Given the description of an element on the screen output the (x, y) to click on. 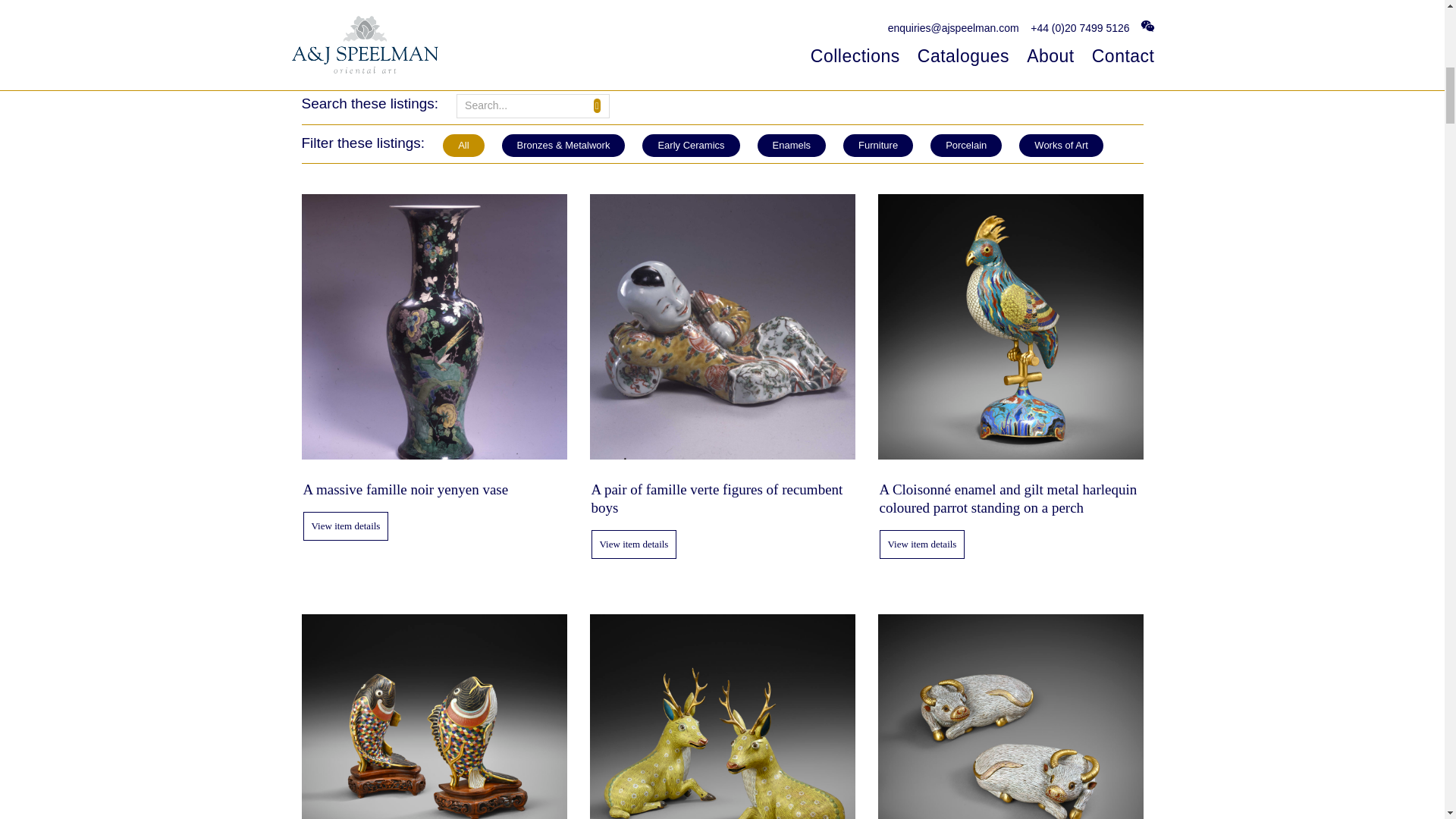
View item details (634, 543)
View item details (922, 543)
A pair of famille verte figures of recumbent boys (722, 498)
View item details (345, 525)
A massive famille noir yenyen vase (434, 489)
